Given the description of an element on the screen output the (x, y) to click on. 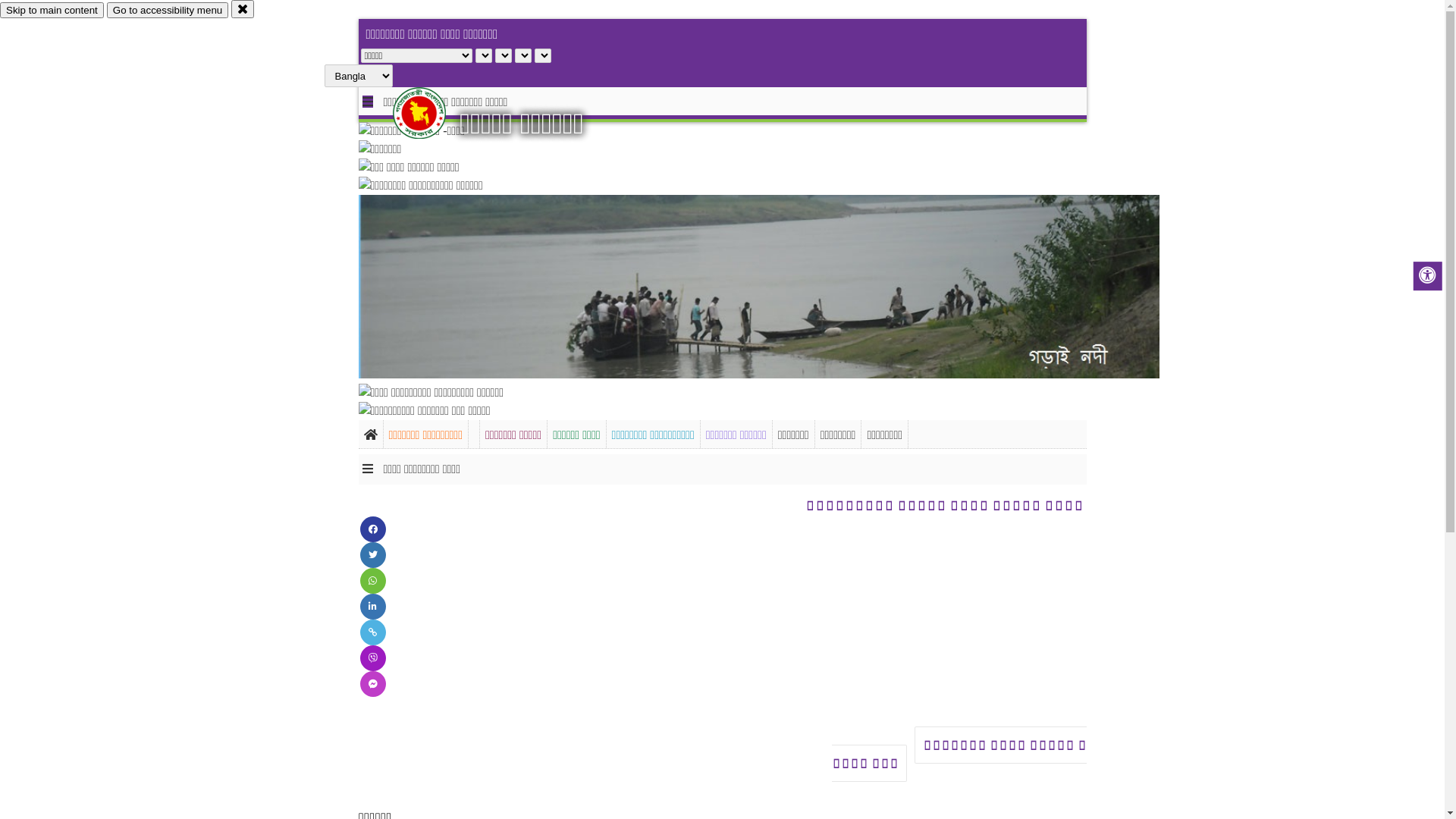
Go to accessibility menu Element type: text (167, 10)
Skip to main content Element type: text (51, 10)
close Element type: hover (242, 9)

                
             Element type: hover (431, 112)
